Given the description of an element on the screen output the (x, y) to click on. 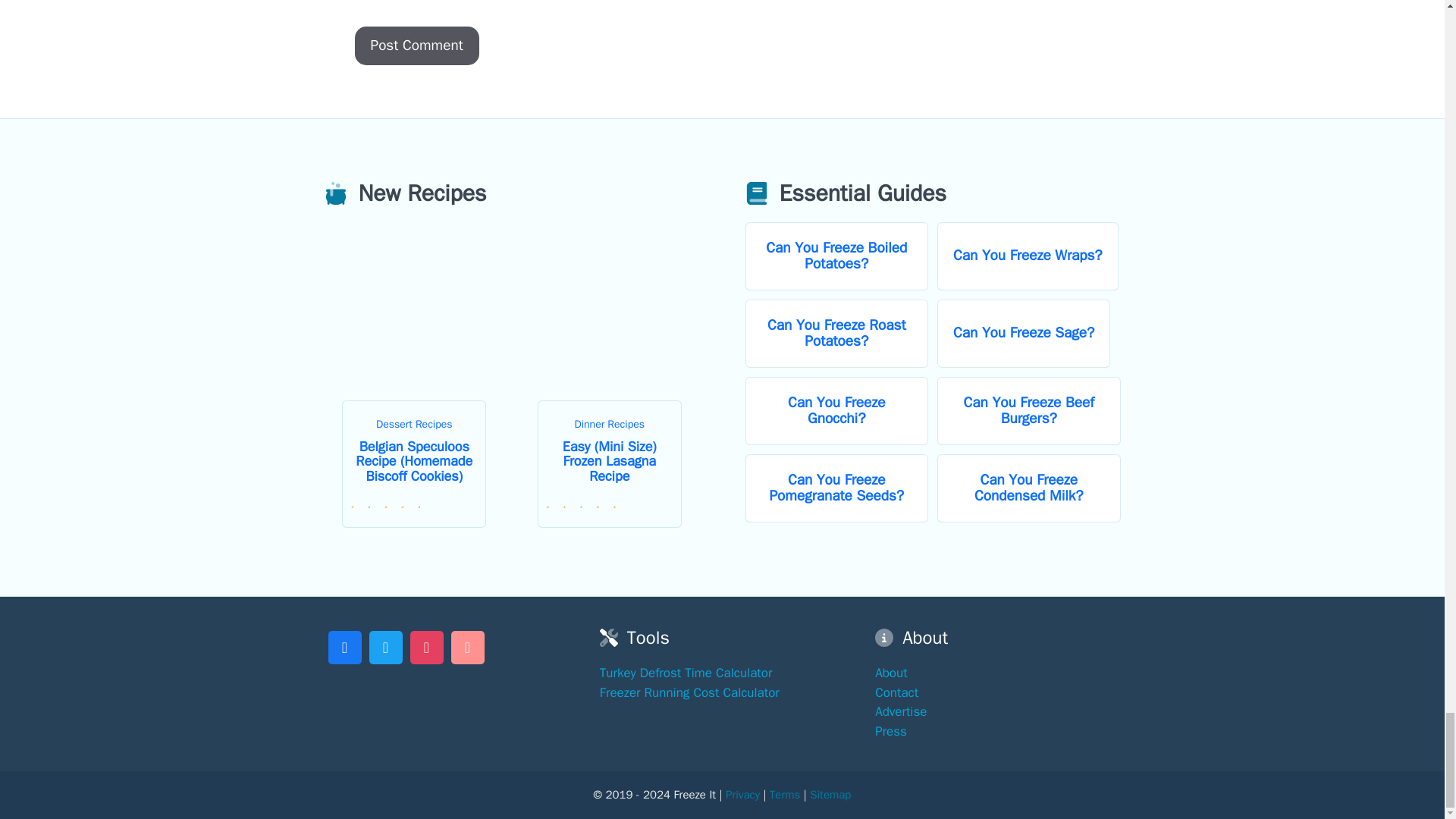
Instagram (426, 645)
Post Comment (417, 45)
Youtube (466, 645)
Twitter (385, 645)
Facebook (344, 645)
